Given the description of an element on the screen output the (x, y) to click on. 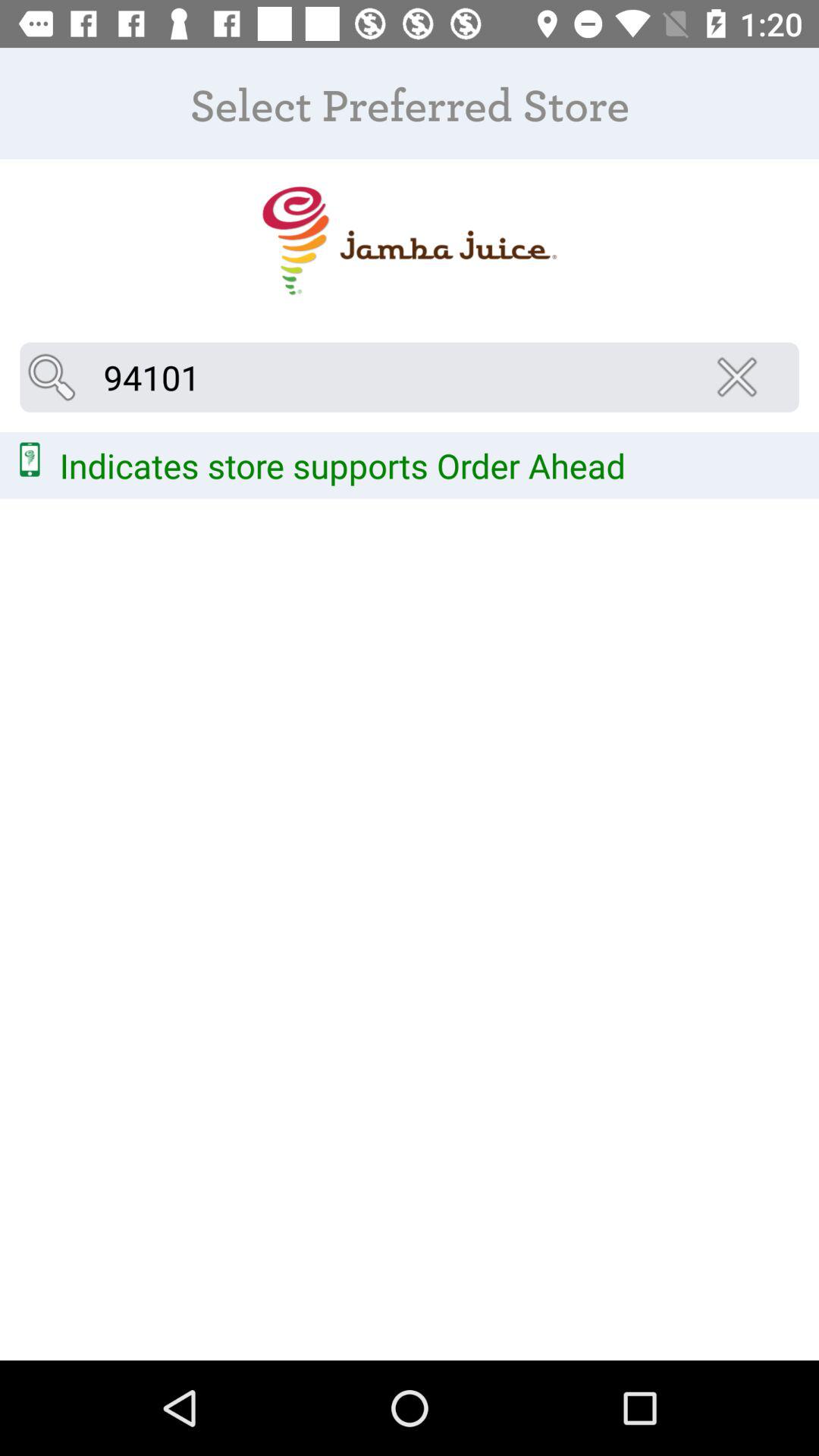
clear search box (742, 376)
